Given the description of an element on the screen output the (x, y) to click on. 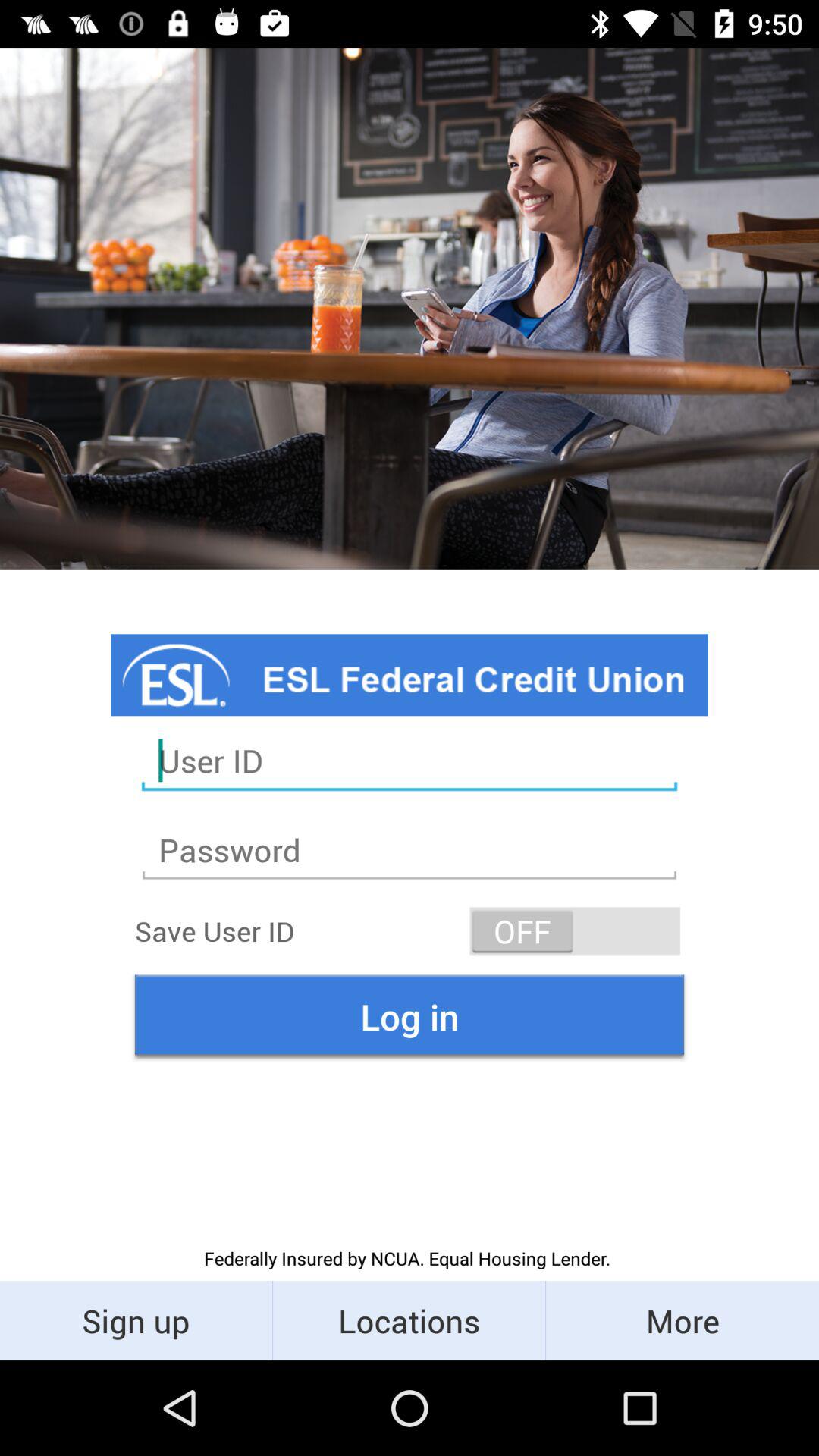
press the icon below the federally insured by (136, 1320)
